Given the description of an element on the screen output the (x, y) to click on. 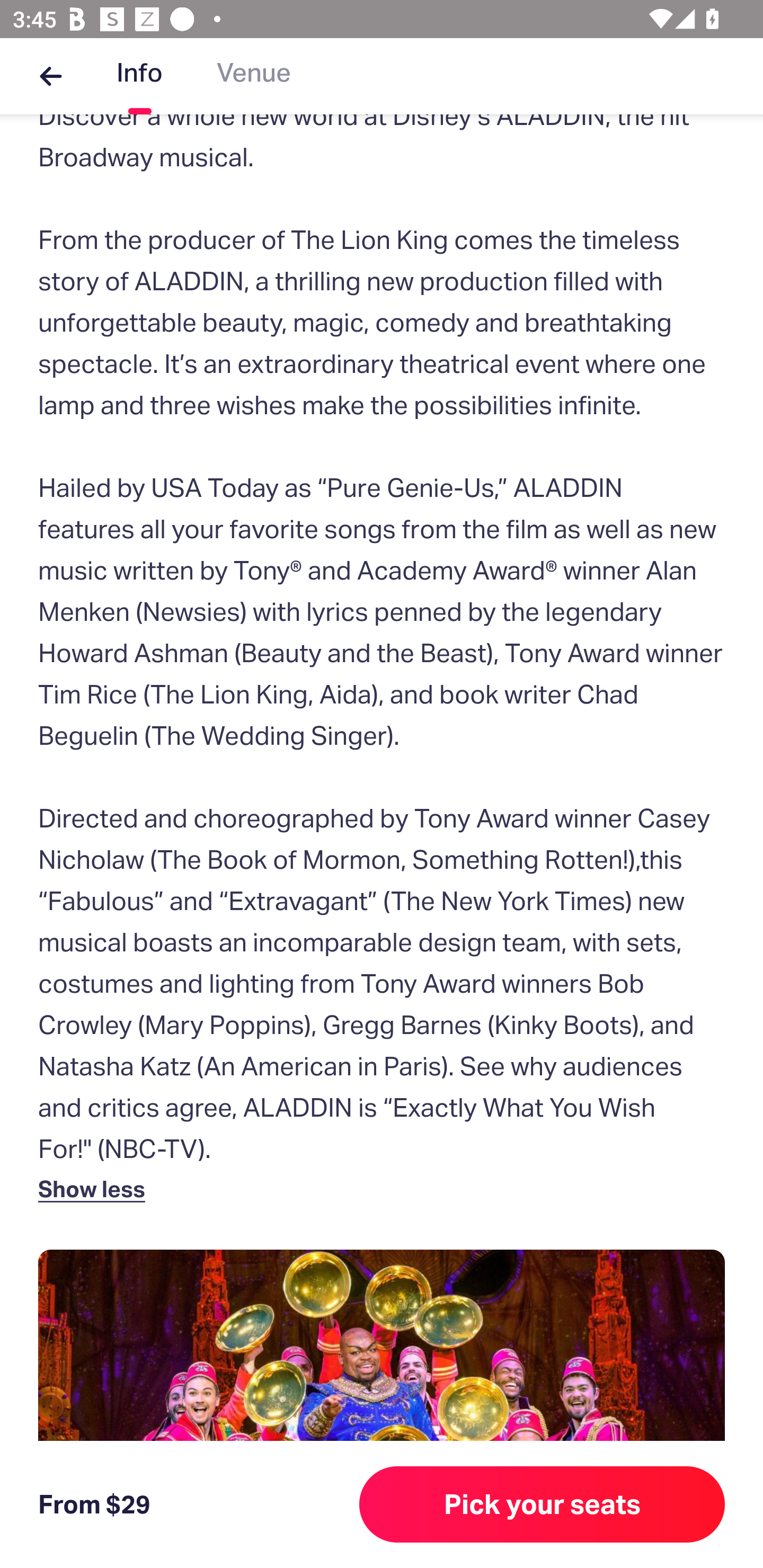
Venue (253, 75)
Show less (95, 1188)
Pick your seats (541, 1504)
